Given the description of an element on the screen output the (x, y) to click on. 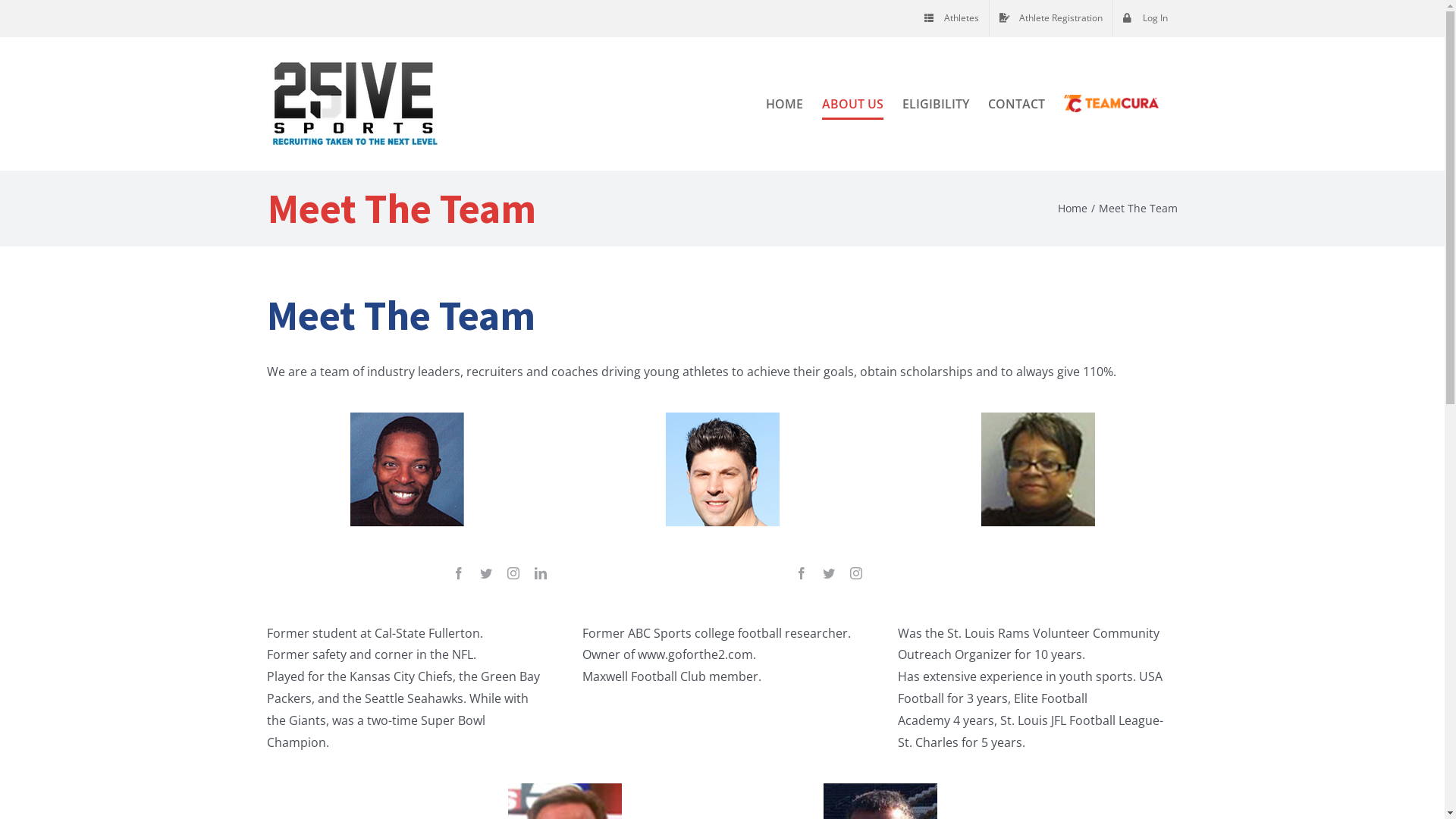
Athletes Element type: text (951, 18)
ABOUT US Element type: text (852, 103)
Athlete Registration Element type: text (1049, 18)
HOME Element type: text (784, 103)
Home Element type: text (1071, 207)
Log In Element type: text (1145, 18)
CONTACT Element type: text (1015, 103)
ELIGIBILITY Element type: text (935, 103)
